Given the description of an element on the screen output the (x, y) to click on. 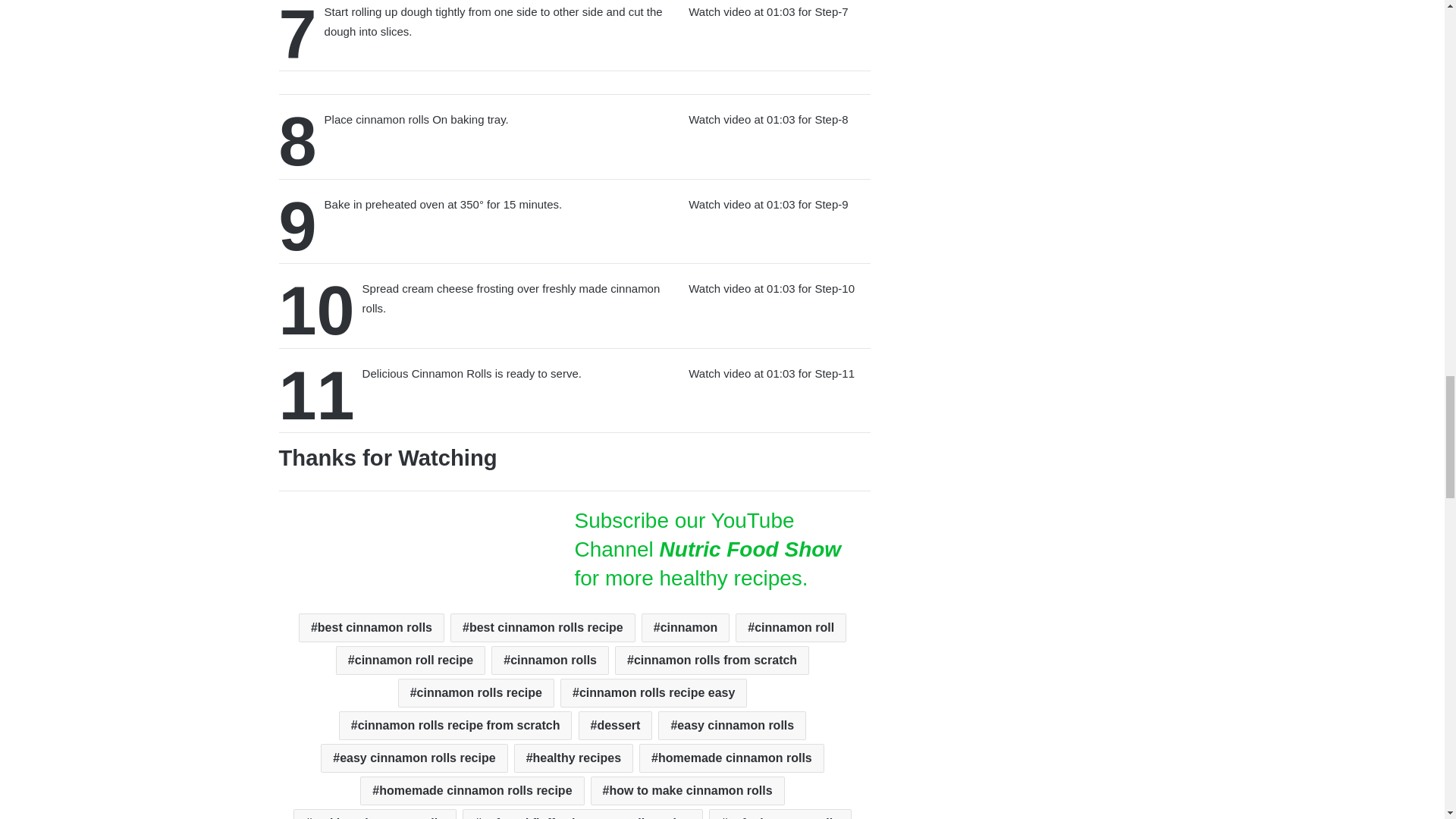
best cinnamon rolls (371, 627)
